Given the description of an element on the screen output the (x, y) to click on. 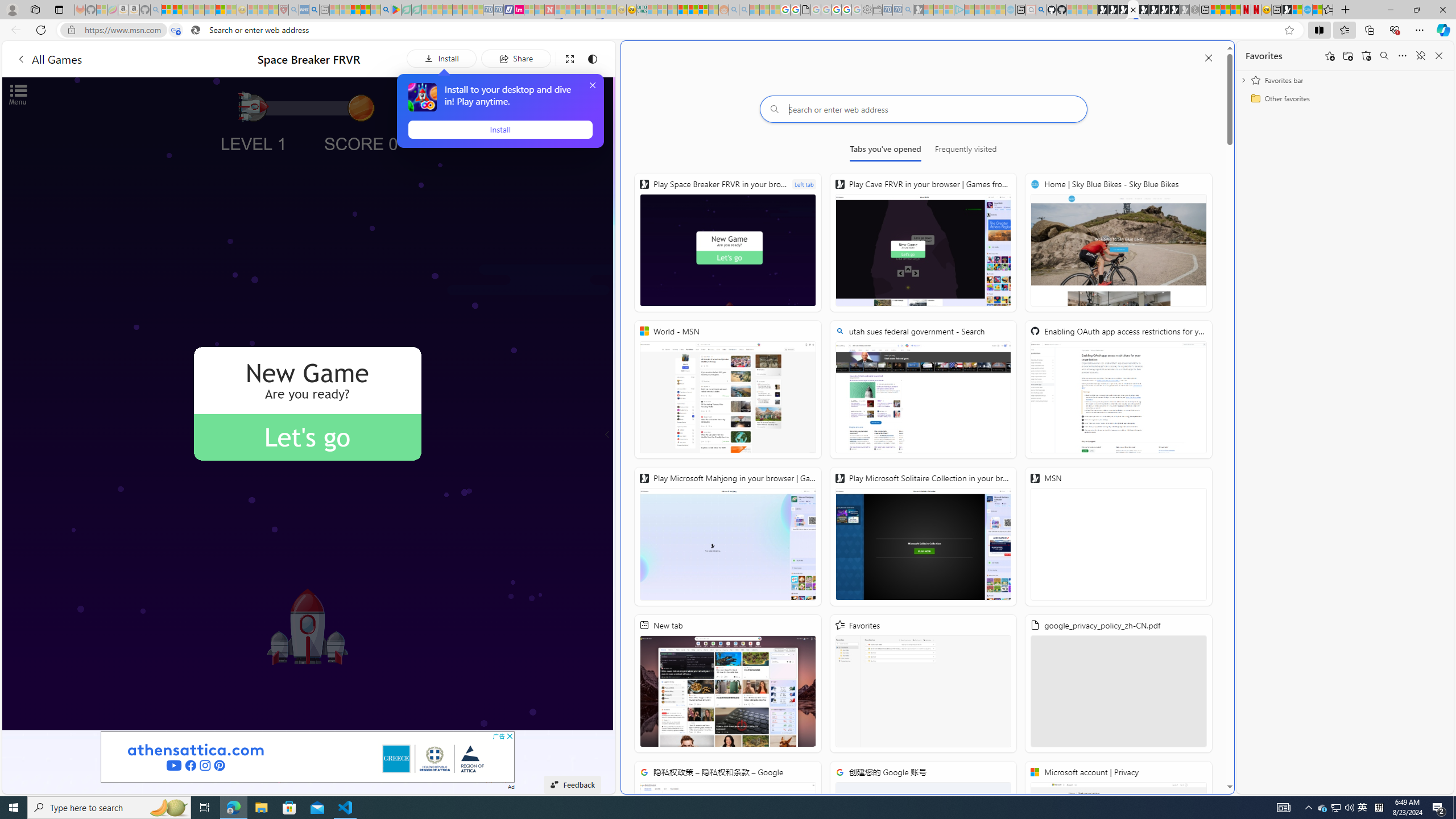
Restore deleted favorites (1366, 55)
Search or enter web address (922, 108)
Bluey: Let's Play! - Apps on Google Play (395, 9)
World - MSN (1297, 9)
